Given the description of an element on the screen output the (x, y) to click on. 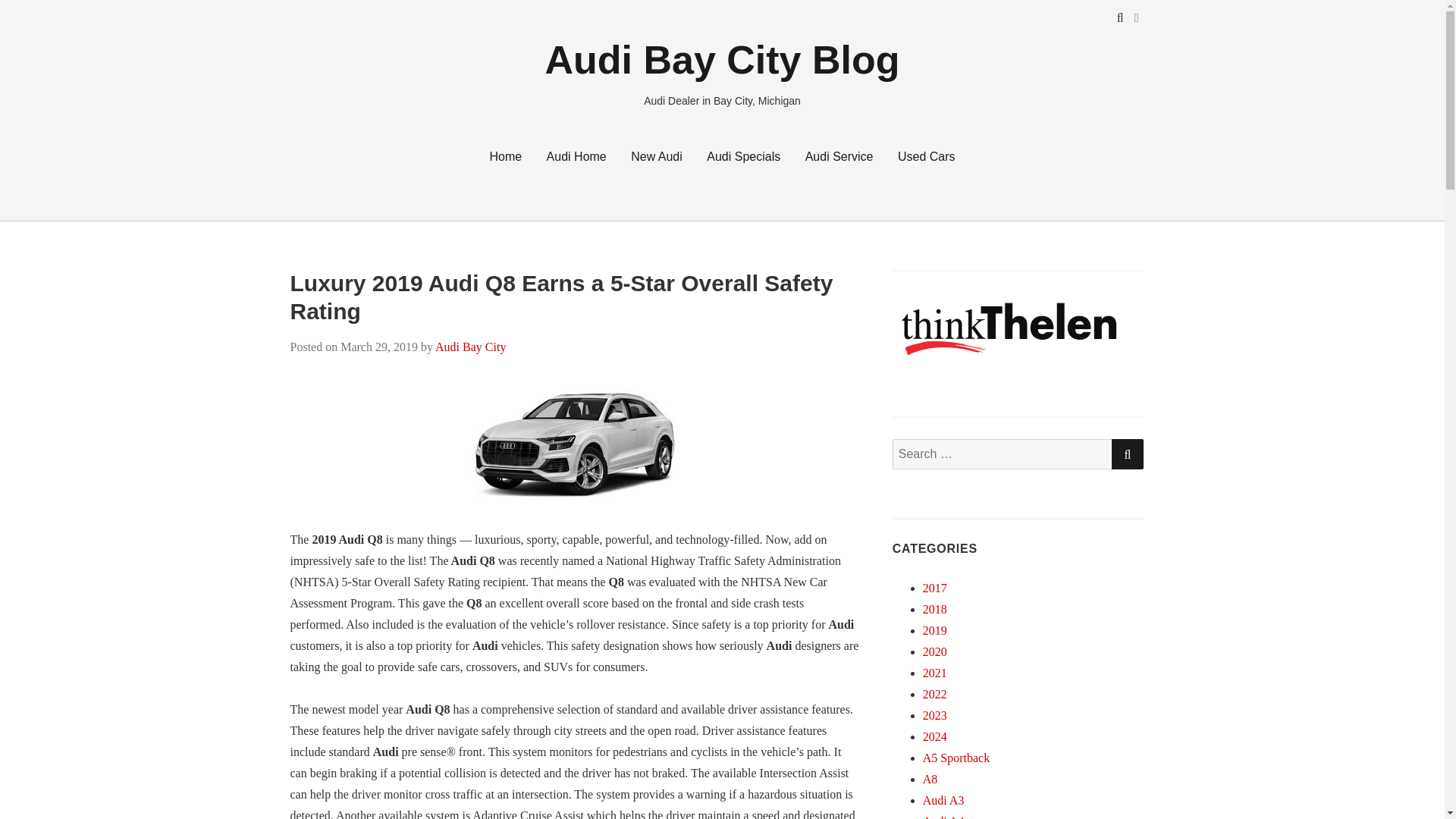
Audi Home (576, 156)
Audi Specials (742, 156)
2023 (935, 715)
Audi A4 (943, 816)
Audi Service (838, 156)
2024 (935, 736)
Used Cars (926, 156)
2017 (935, 587)
Audi Bay City (470, 346)
Home (505, 156)
A8 (930, 779)
A5 Sportback (956, 757)
Audi Bay City Blog (721, 59)
2020 (935, 651)
Audi A3 (943, 799)
